Given the description of an element on the screen output the (x, y) to click on. 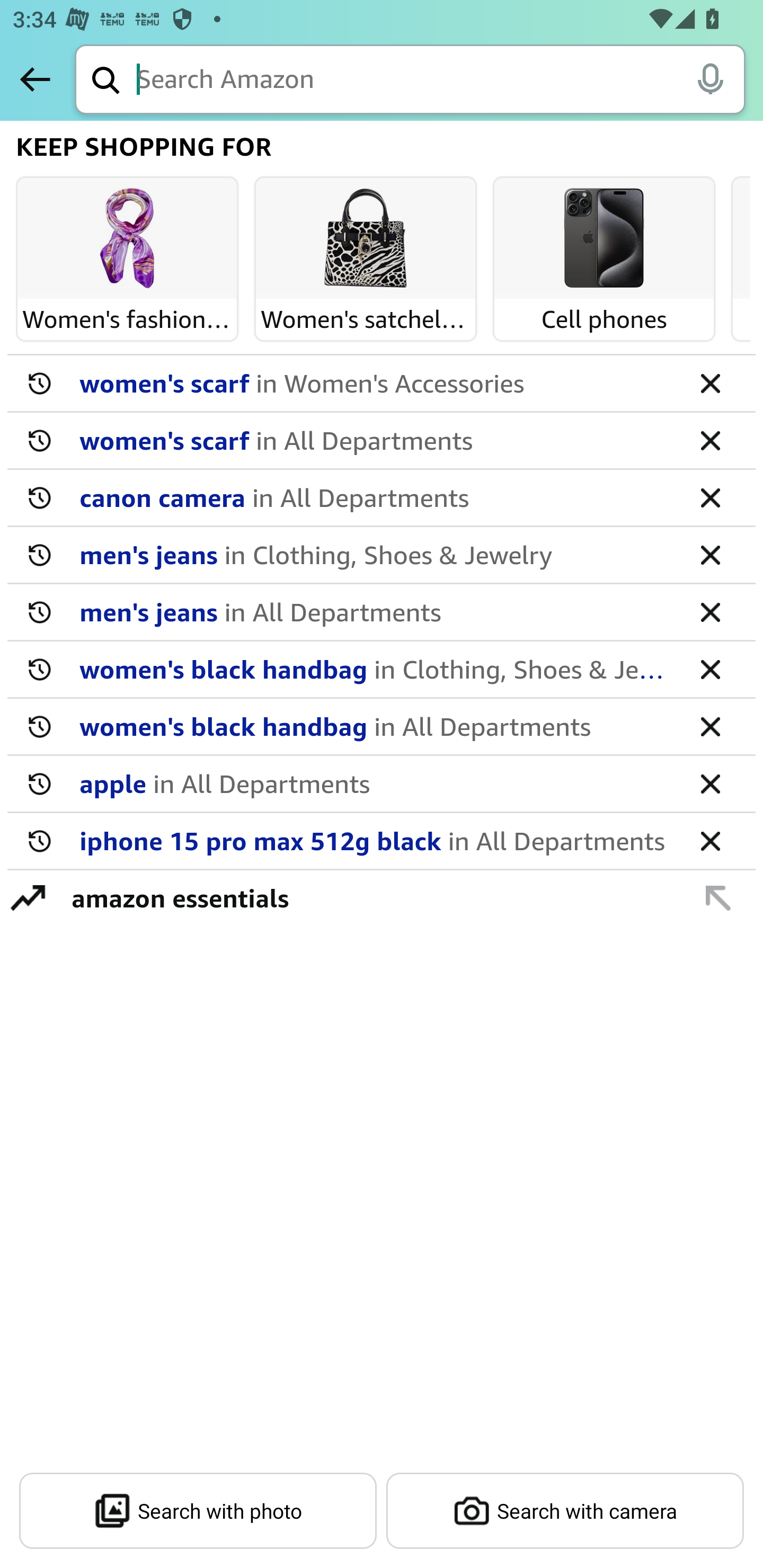
Search Amazon (440, 80)
Back (35, 78)
Alexa (710, 78)
Women's fashion scarves (126, 238)
Women's satchel handbags (365, 238)
Cell phones (603, 238)
women's scarf delete (381, 383)
women's scarf (374, 382)
delete (710, 382)
women's scarf delete (381, 440)
women's scarf (374, 439)
delete (710, 439)
canon camera delete (381, 497)
canon camera (374, 496)
delete (710, 496)
men's jeans delete (381, 554)
men's jeans (374, 554)
delete (710, 554)
men's jeans delete (381, 612)
men's jeans (374, 611)
delete (710, 611)
women's black handbag delete (381, 669)
women's black handbag (374, 668)
delete (710, 668)
women's black handbag delete (381, 726)
women's black handbag (374, 725)
delete (710, 725)
apple delete (381, 783)
apple (374, 783)
delete (710, 783)
iphone 15 pro max 512g black delete (381, 841)
iphone 15 pro max 512g black (374, 840)
delete (710, 840)
amazon essentials append suggestion (381, 897)
amazon essentials (370, 897)
append suggestion (718, 897)
Search with photo (197, 1510)
Search with camera (564, 1510)
